Given the description of an element on the screen output the (x, y) to click on. 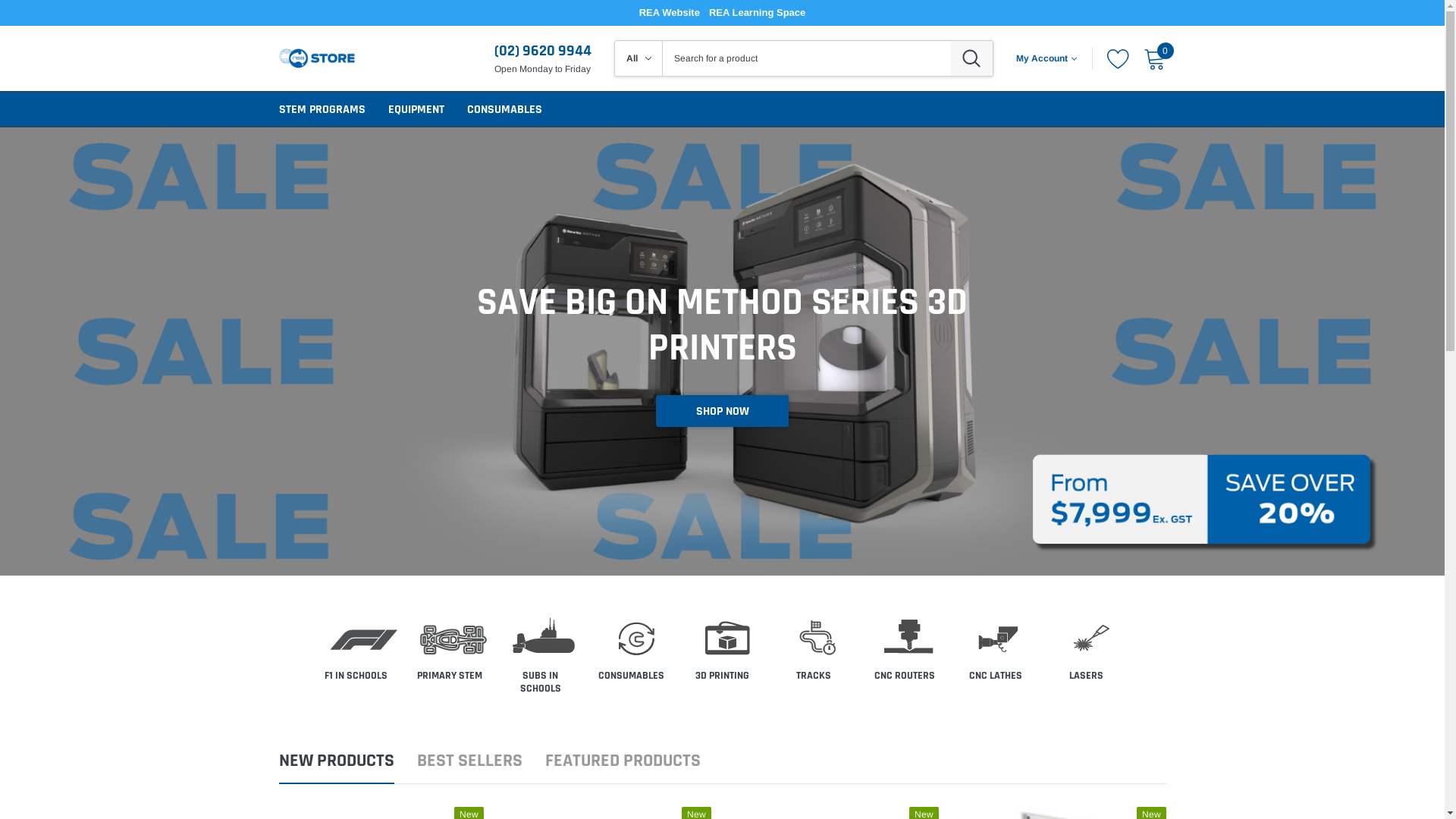
F1 IN SCHOOLS Element type: text (355, 675)
PRIMARY STEM Element type: text (449, 675)
  Element type: text (390, 675)
EQUIPMENT Element type: text (416, 109)
  Element type: text (449, 650)
STEM PROGRAMS Element type: text (322, 109)
  Element type: text (813, 650)
0 Element type: text (1154, 58)
REA Website Element type: text (669, 12)
SUBS IN SCHOOLS Element type: text (540, 682)
My Account Element type: text (1046, 57)
CNC ROUTERS Element type: text (903, 675)
FEATURED PRODUCTS Element type: text (621, 766)
  Element type: text (1086, 650)
CONSUMABLES Element type: text (631, 675)
  Element type: text (540, 656)
  Element type: text (722, 650)
REA Learning Space Element type: text (756, 12)
NEW PRODUCTS Element type: text (336, 766)
(02) 9620 9944 Element type: text (542, 50)
TRACKS Element type: text (813, 675)
Re-Engineering Australia Foundation Element type: hover (316, 58)
SHOP NOW Element type: text (721, 410)
  Element type: text (995, 650)
3D PRINTING Element type: text (722, 675)
BEST SELLERS Element type: text (469, 766)
  Element type: text (631, 650)
CNC LATHES Element type: text (995, 675)
LASERS Element type: text (1086, 675)
CONSUMABLES Element type: text (504, 109)
  Element type: text (904, 650)
